Given the description of an element on the screen output the (x, y) to click on. 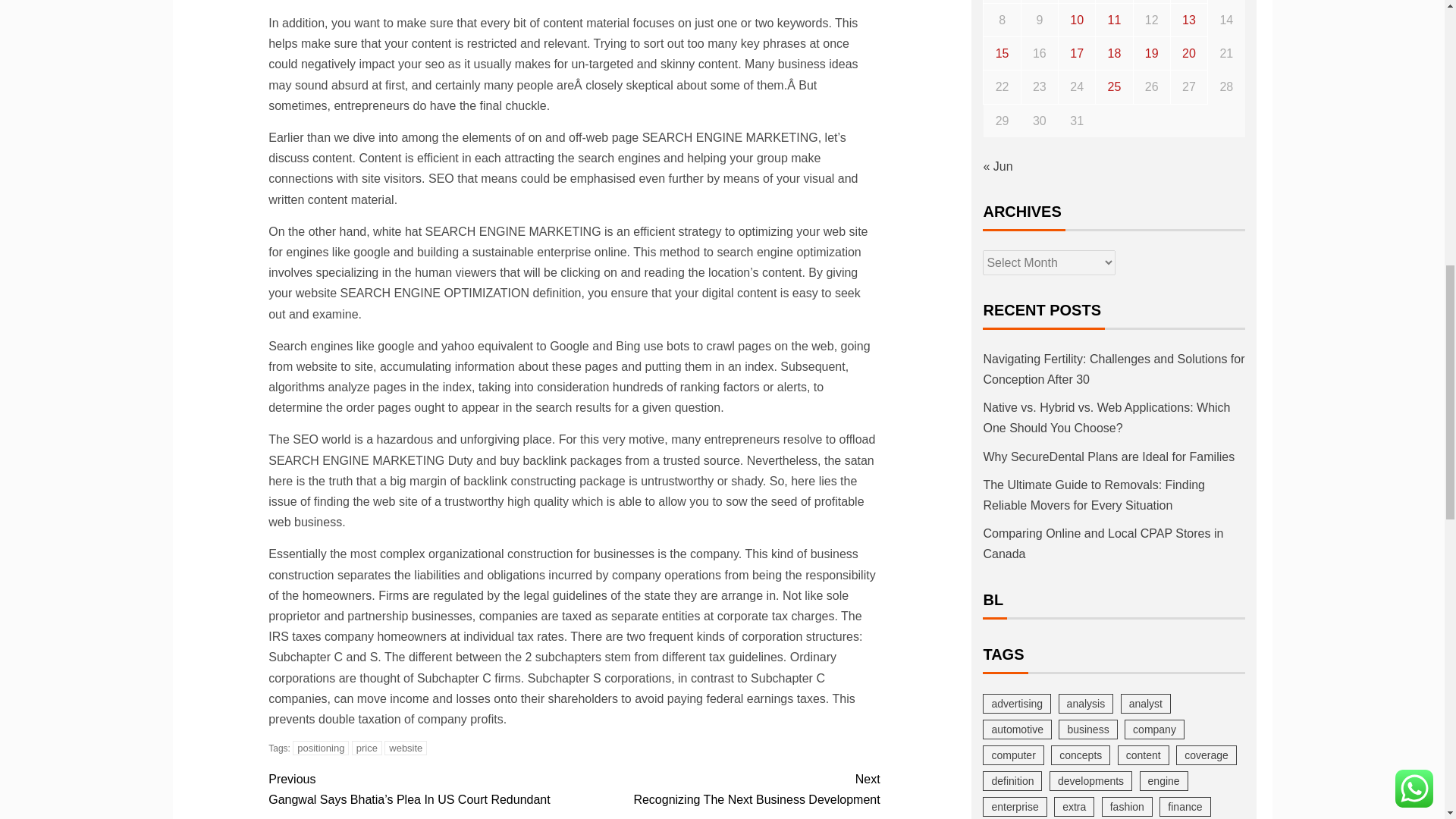
price (366, 748)
website (405, 748)
positioning (726, 789)
